Given the description of an element on the screen output the (x, y) to click on. 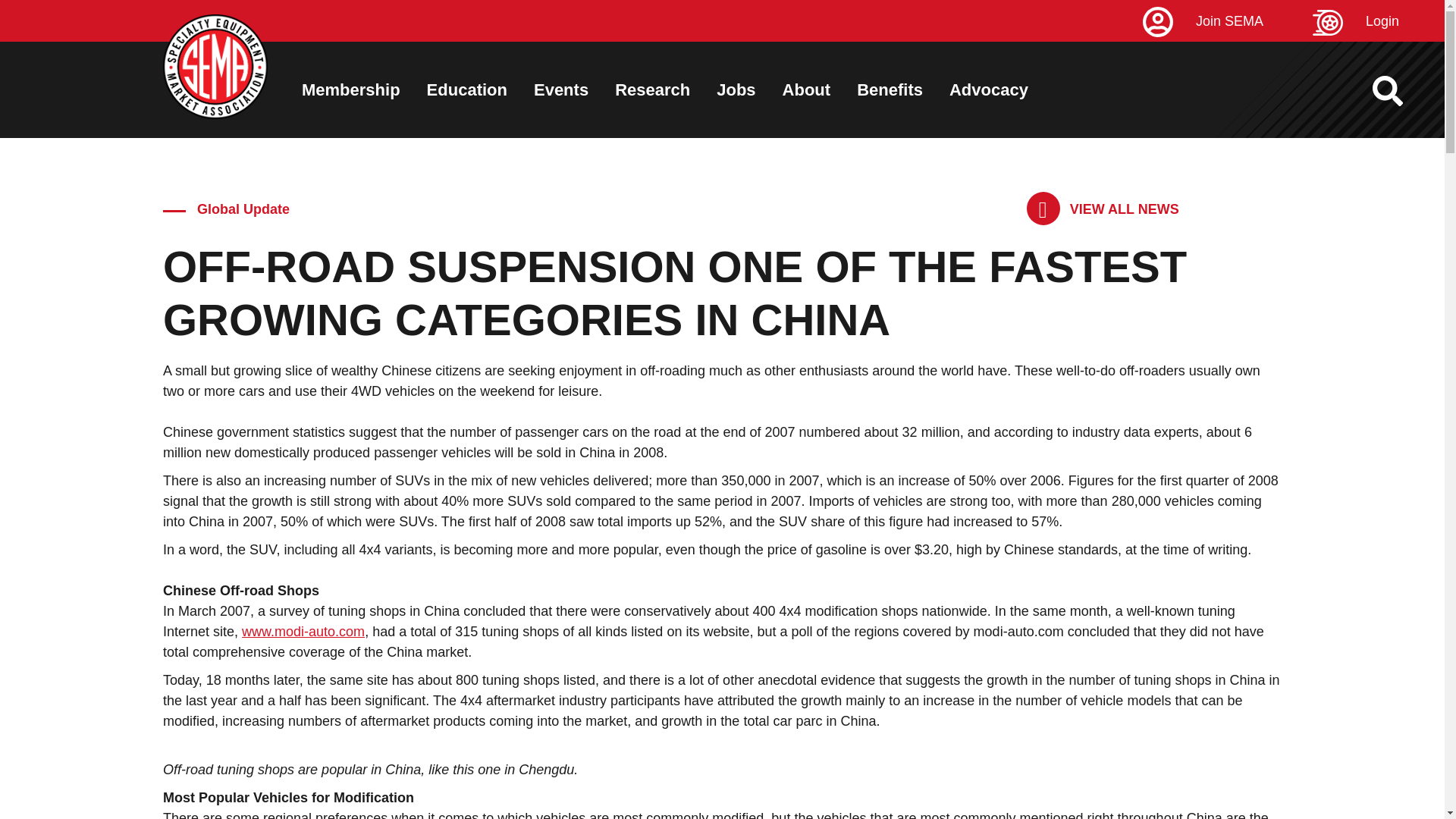
Benefits (889, 89)
Search Sema.org (1401, 91)
Login (1378, 20)
eNews archive (1102, 209)
Membership (350, 89)
Join SEMA (1225, 20)
www.modi-auto.com (303, 631)
VIEW ALL NEWS (1102, 209)
Research (652, 89)
